Given the description of an element on the screen output the (x, y) to click on. 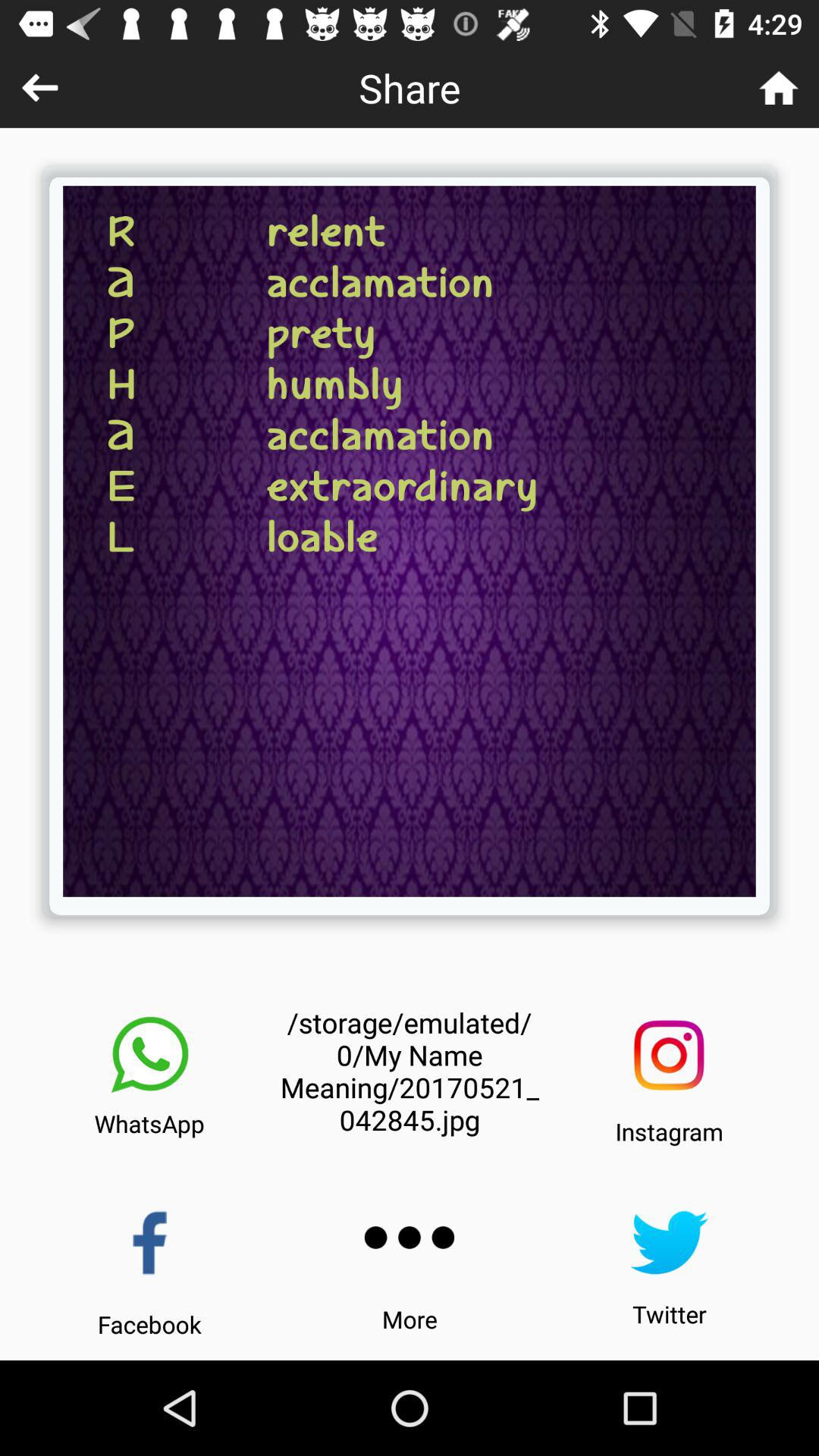
more options (409, 1237)
